Given the description of an element on the screen output the (x, y) to click on. 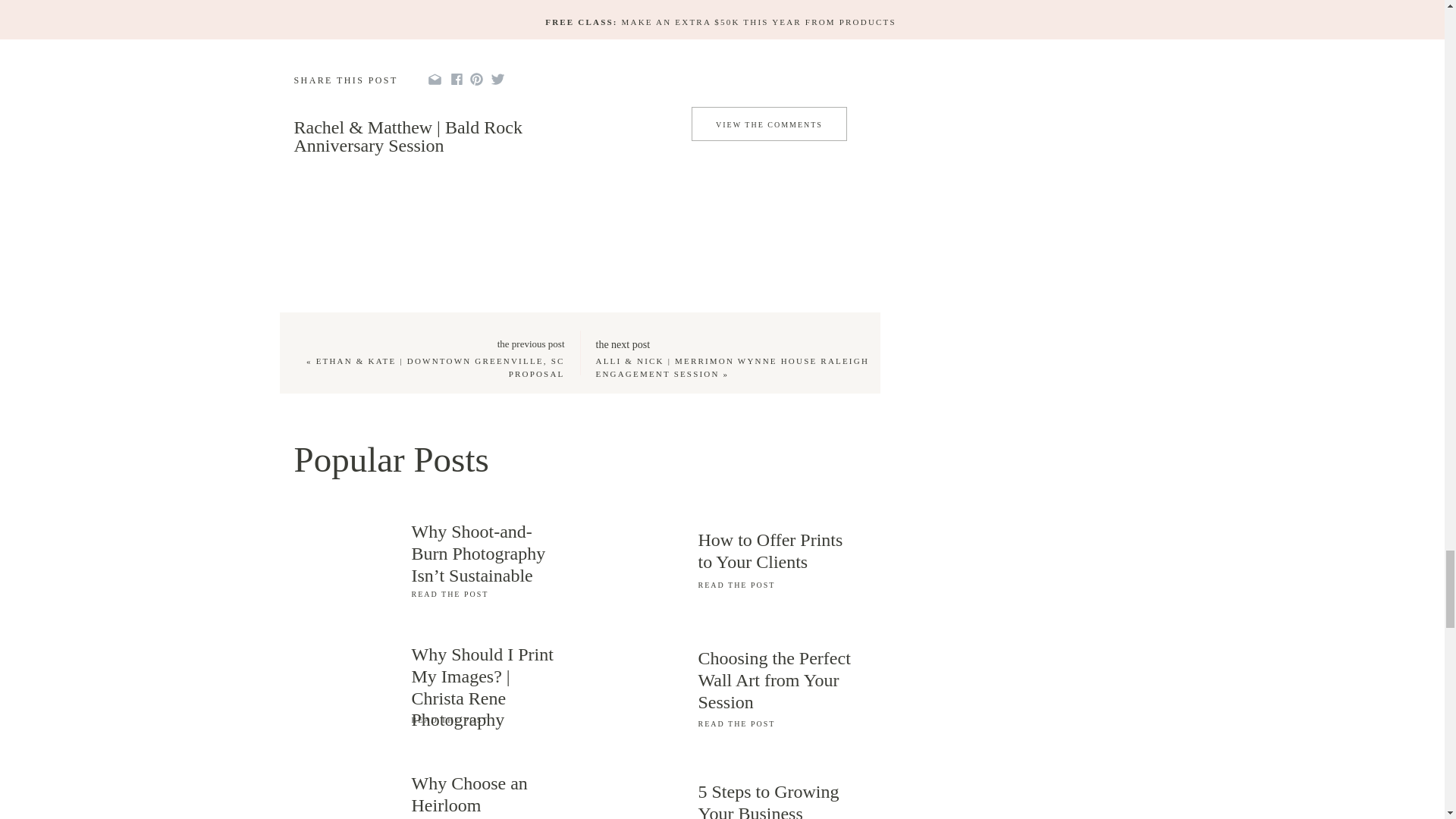
5 Steps to Growing Your Business (776, 800)
READ THE POST (776, 722)
VIEW THE COMMENTS (768, 127)
